Given the description of an element on the screen output the (x, y) to click on. 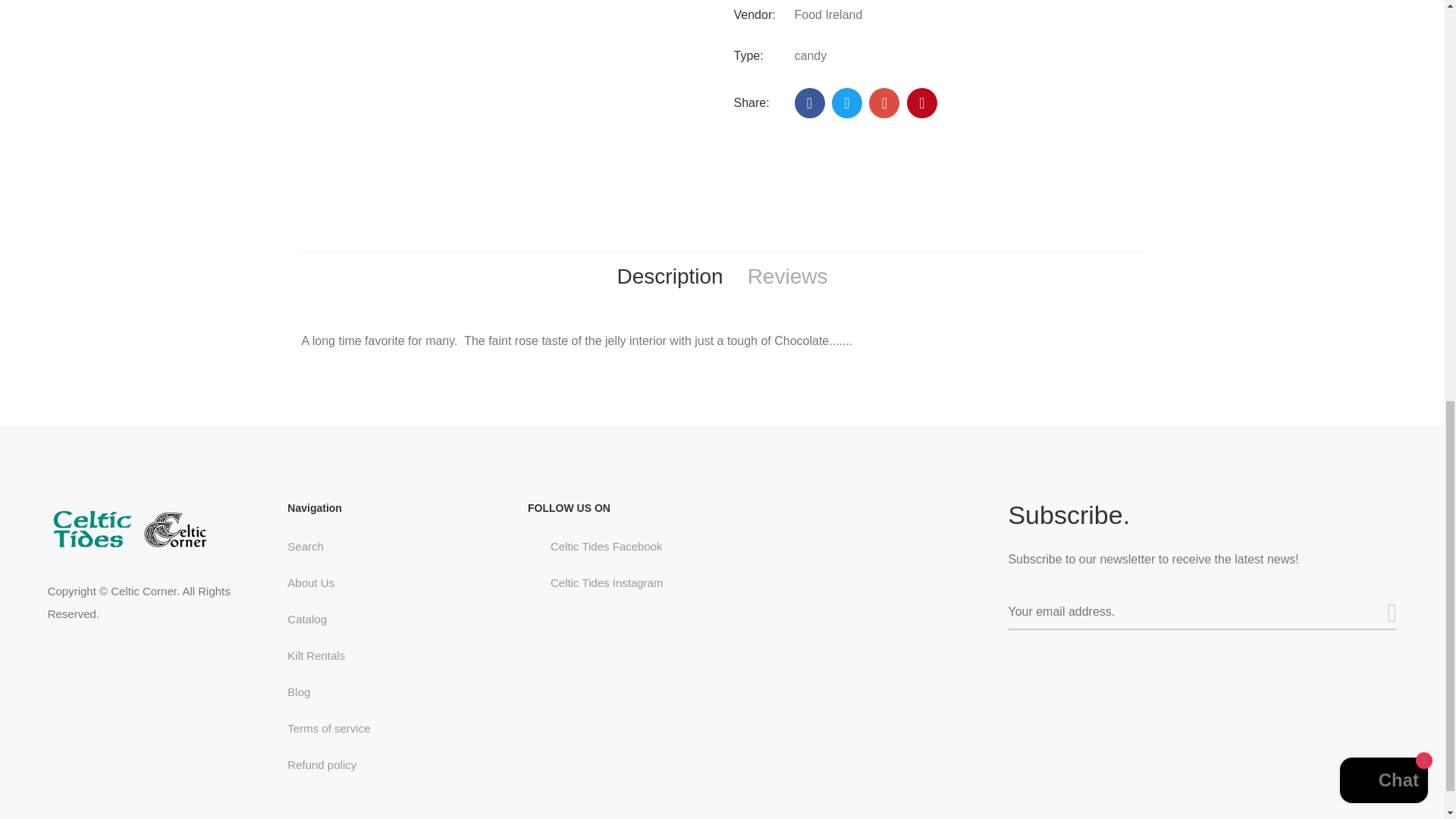
Follow us on Pinterest (922, 102)
Follow us on Facebook (809, 102)
Follow us on Twitter (846, 102)
